Given the description of an element on the screen output the (x, y) to click on. 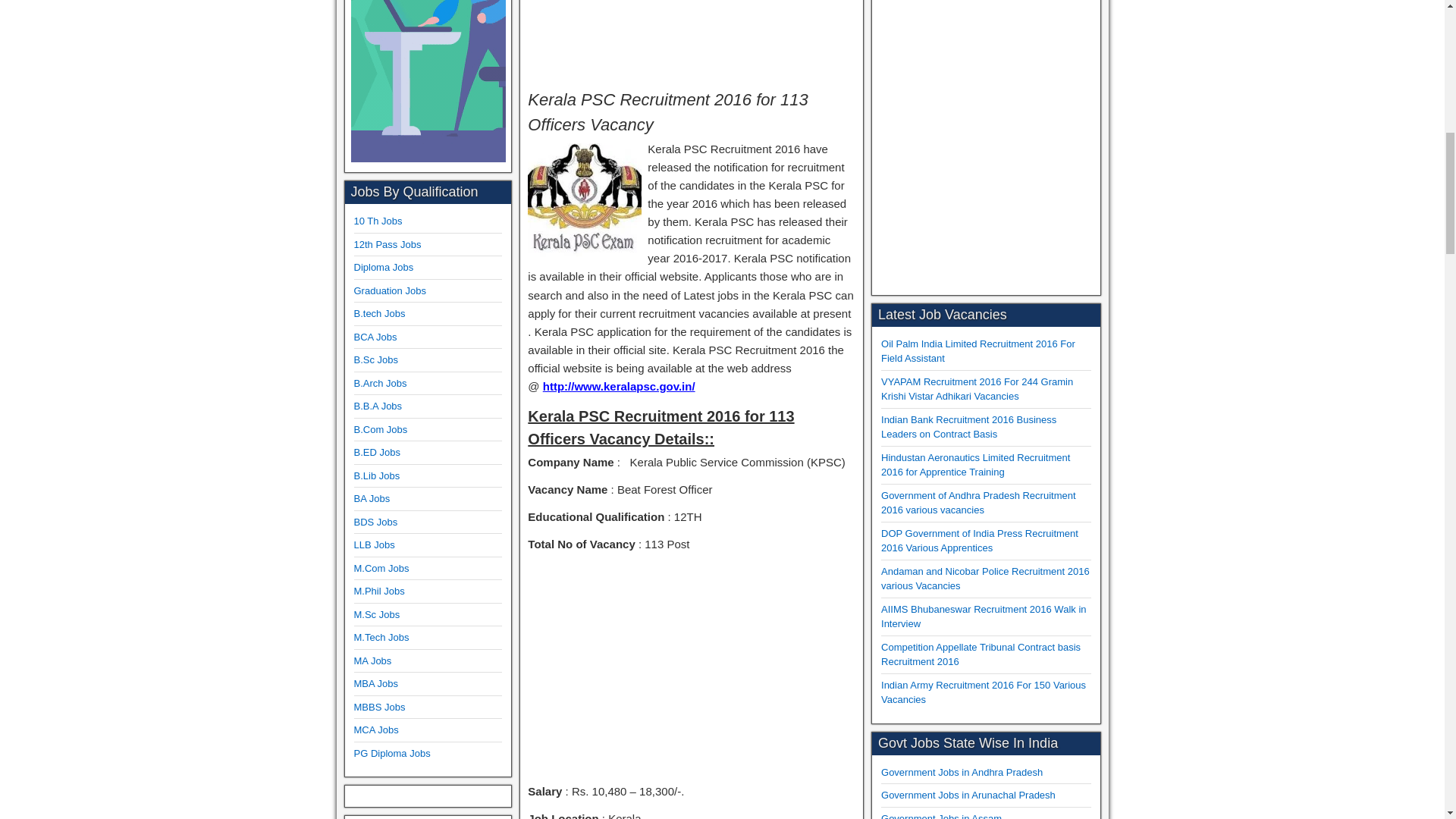
B.B.A Jobs (377, 405)
M.Com Jobs (381, 568)
12th Pass Jobs (386, 244)
M.Sc Jobs (375, 614)
M.Tech Jobs (381, 636)
10 Th Jobs (377, 220)
Diploma Jobs (383, 266)
M.Phil Jobs (378, 591)
MBA Jobs (375, 683)
B.ED Jobs (375, 451)
